Given the description of an element on the screen output the (x, y) to click on. 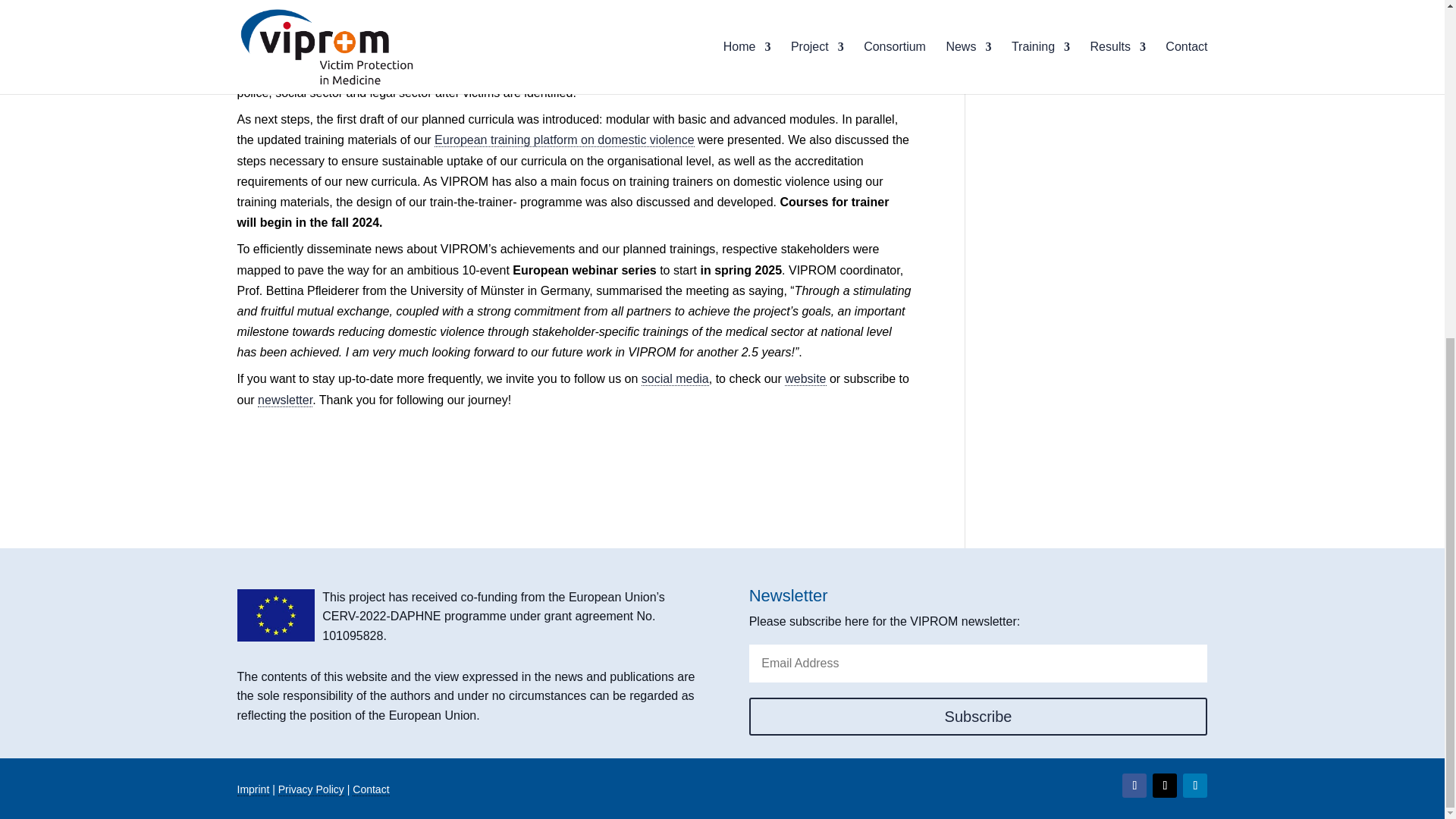
Follow on X (1164, 785)
Follow on Facebook (1134, 785)
Follow on LinkedIn (1194, 785)
